Given the description of an element on the screen output the (x, y) to click on. 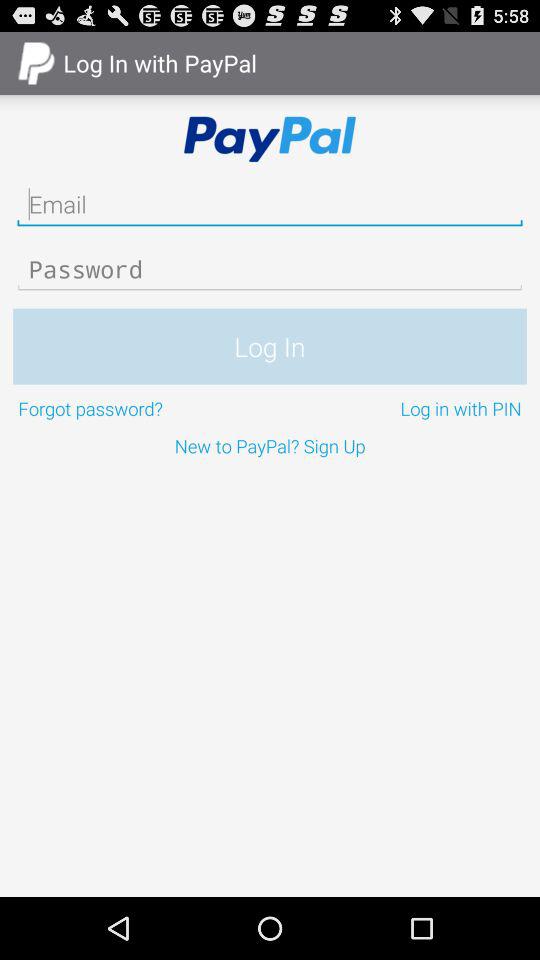
flip to the new to paypal (269, 445)
